Given the description of an element on the screen output the (x, y) to click on. 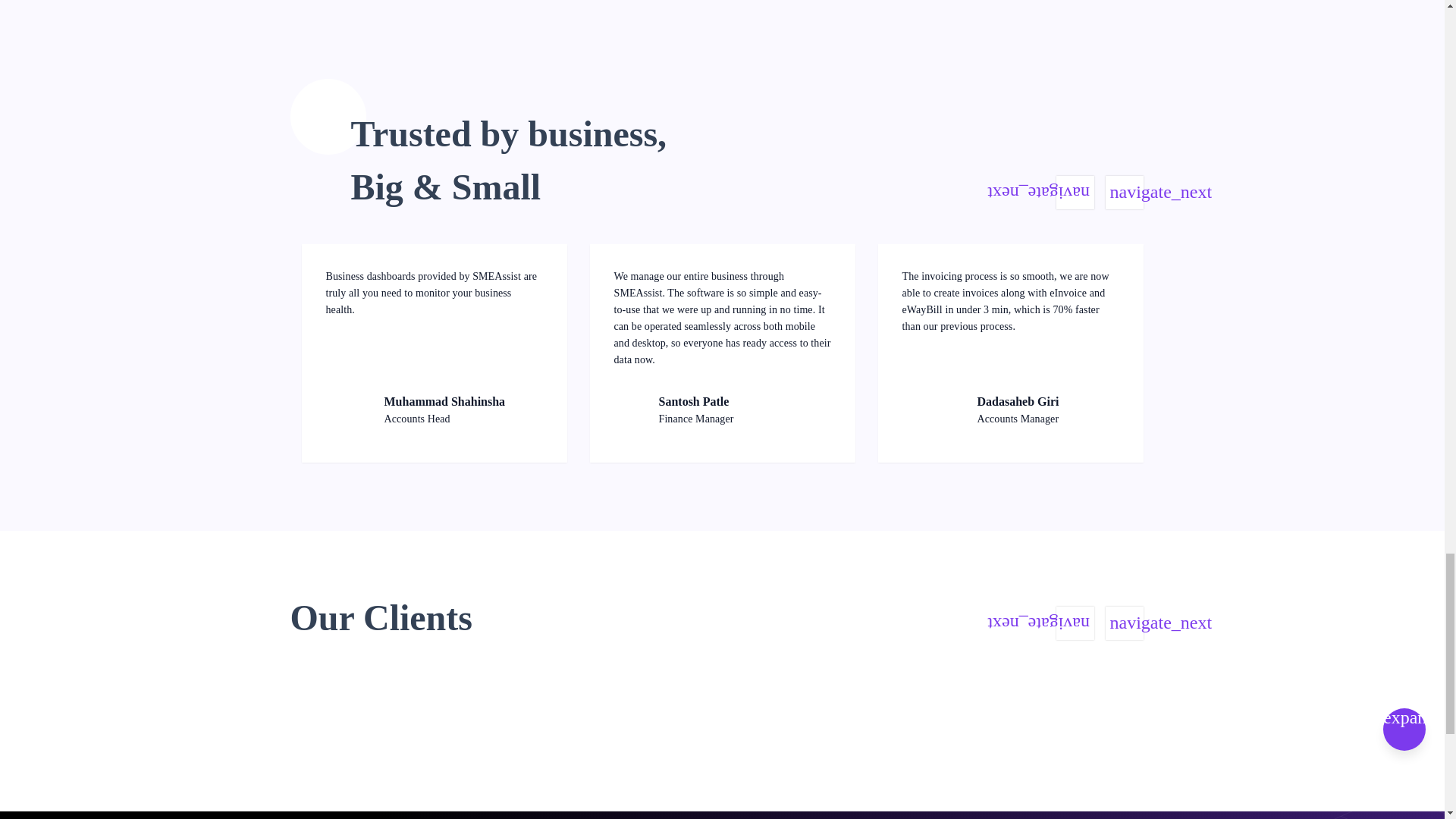
Previous (1074, 622)
Next (1123, 622)
Previous (1074, 192)
Next (1123, 192)
